Given the description of an element on the screen output the (x, y) to click on. 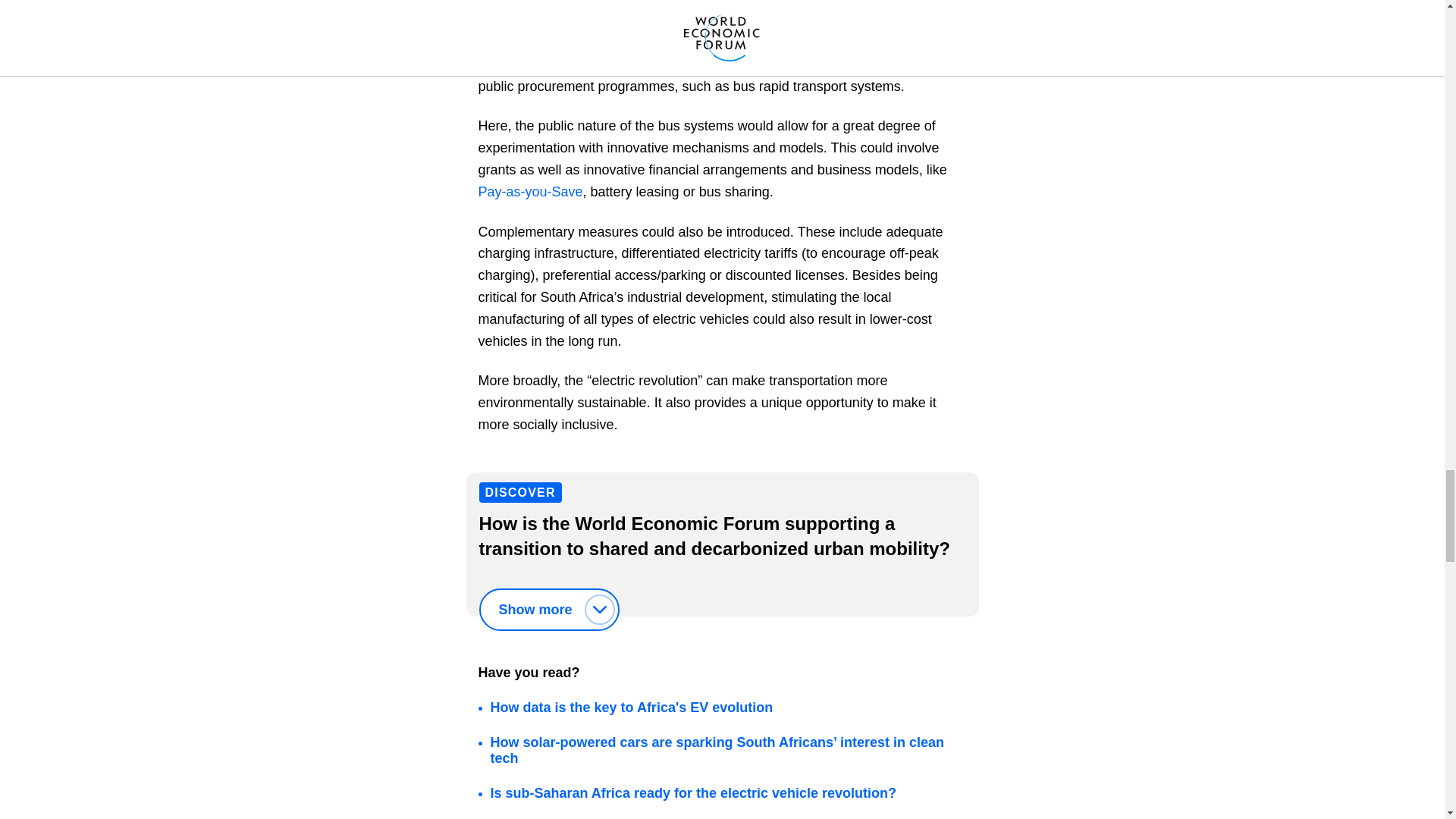
Show more (549, 609)
How data is the key to Africa's EV evolution  (632, 707)
Pay-as-you-Save (529, 191)
